Given the description of an element on the screen output the (x, y) to click on. 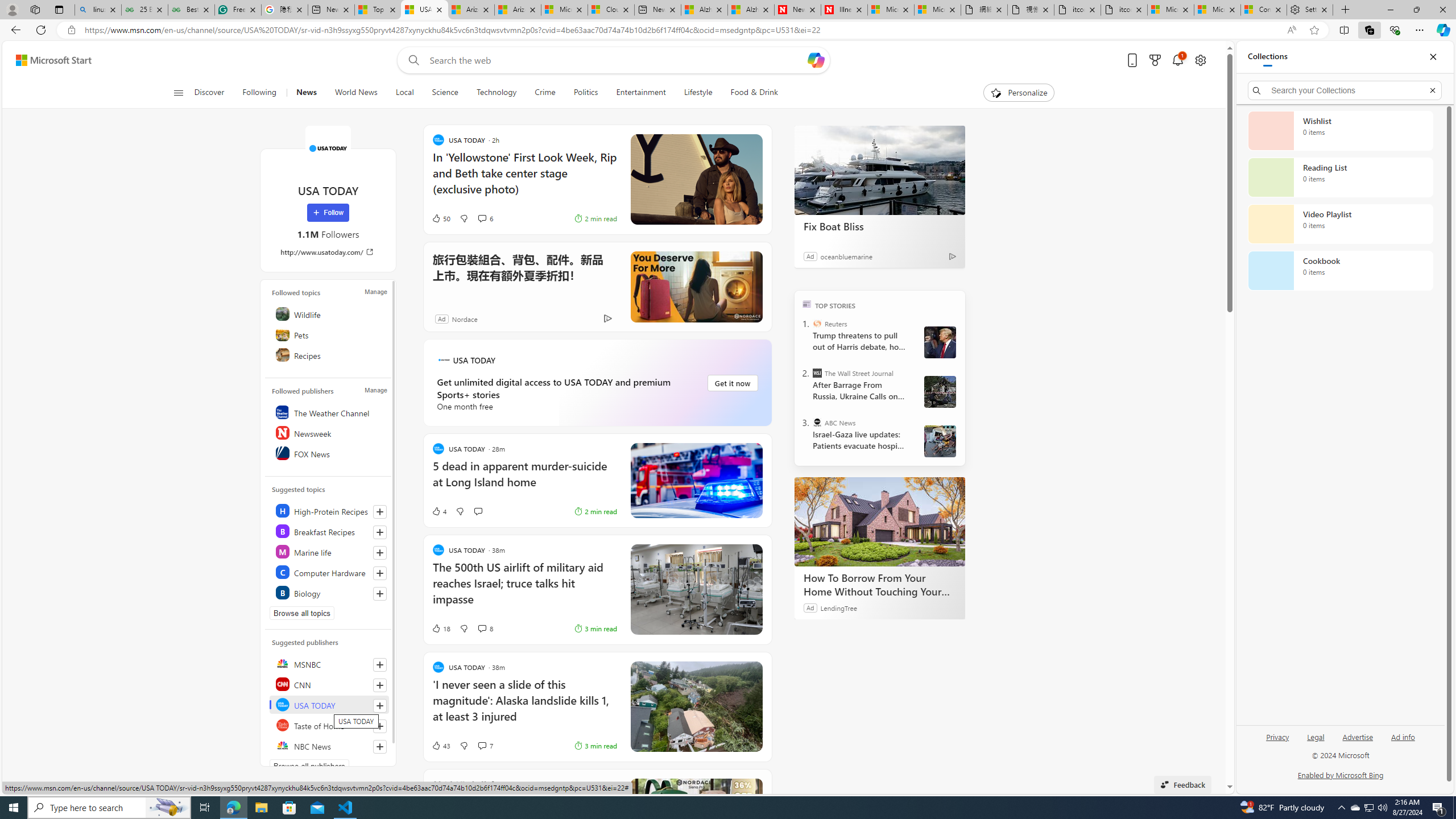
5 dead in apparent murder-suicide at Long Island home (524, 479)
NBC News (328, 745)
View comments 6 Comment (481, 217)
Reuters (816, 323)
Browse all publishers (309, 766)
Cloud Computing Services | Microsoft Azure (610, 9)
